Given the description of an element on the screen output the (x, y) to click on. 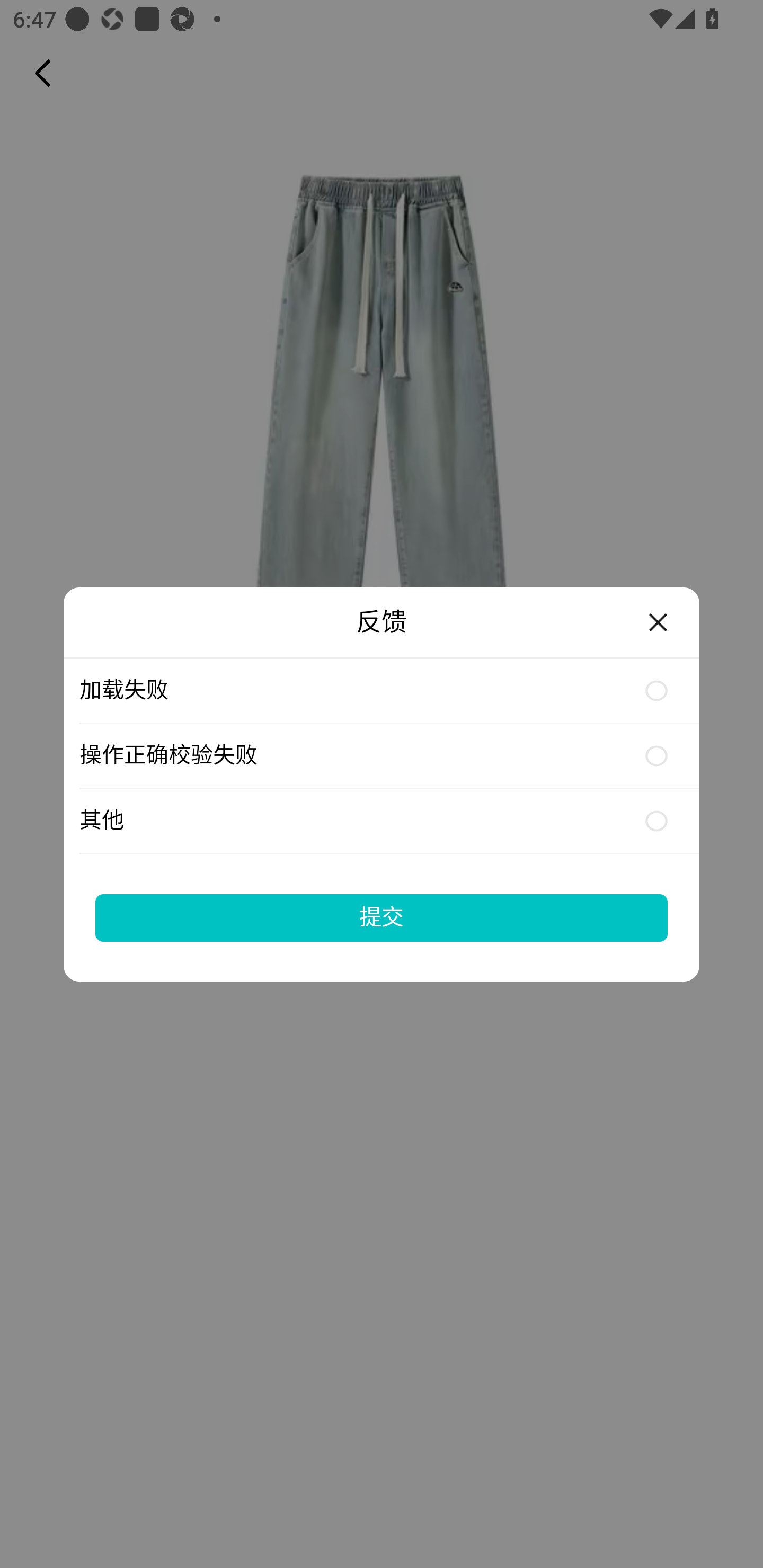
提交 (381, 917)
